Given the description of an element on the screen output the (x, y) to click on. 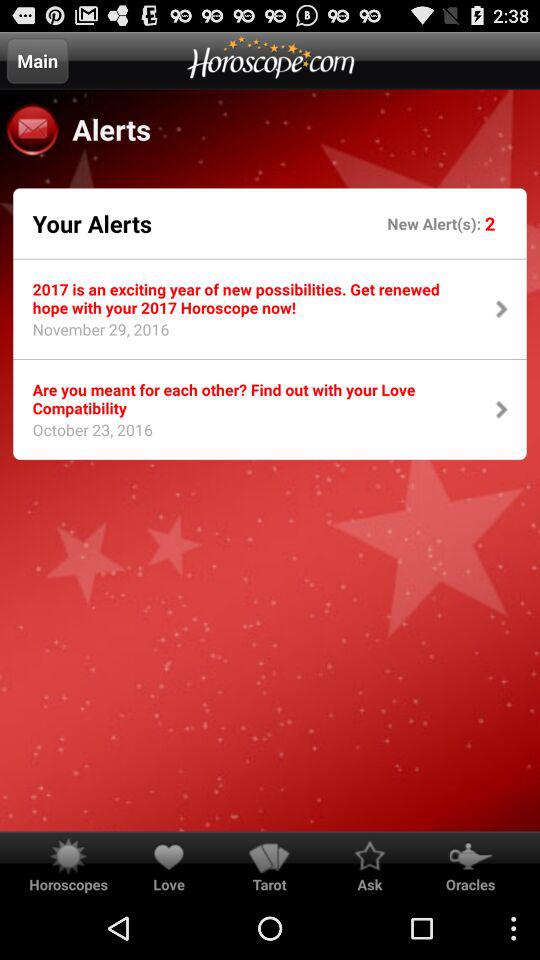
choose icon below the november 29, 2016 item (250, 398)
